Given the description of an element on the screen output the (x, y) to click on. 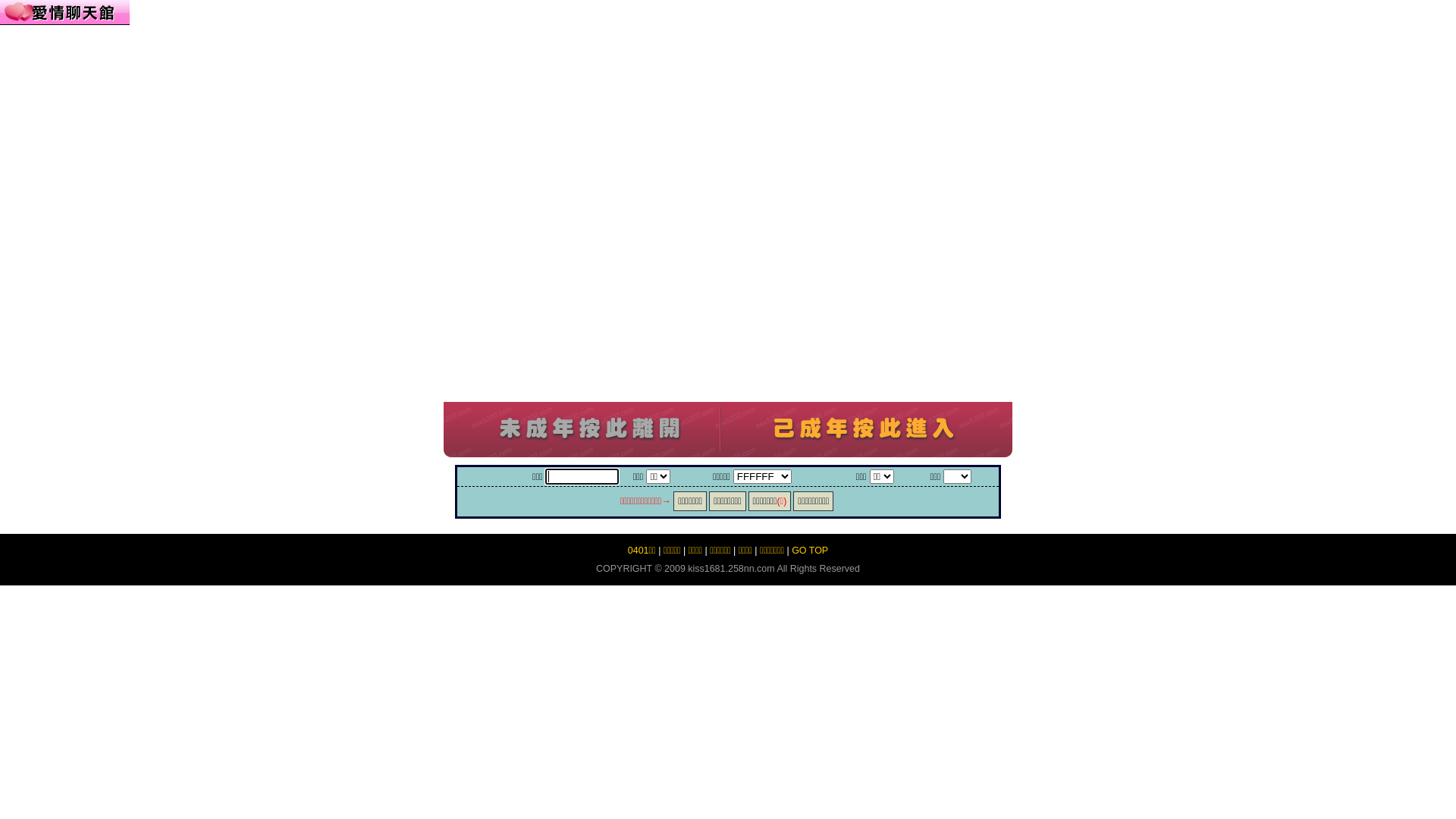
GO TOP Element type: text (809, 550)
kiss1681.258nn.com Element type: text (730, 568)
